Given the description of an element on the screen output the (x, y) to click on. 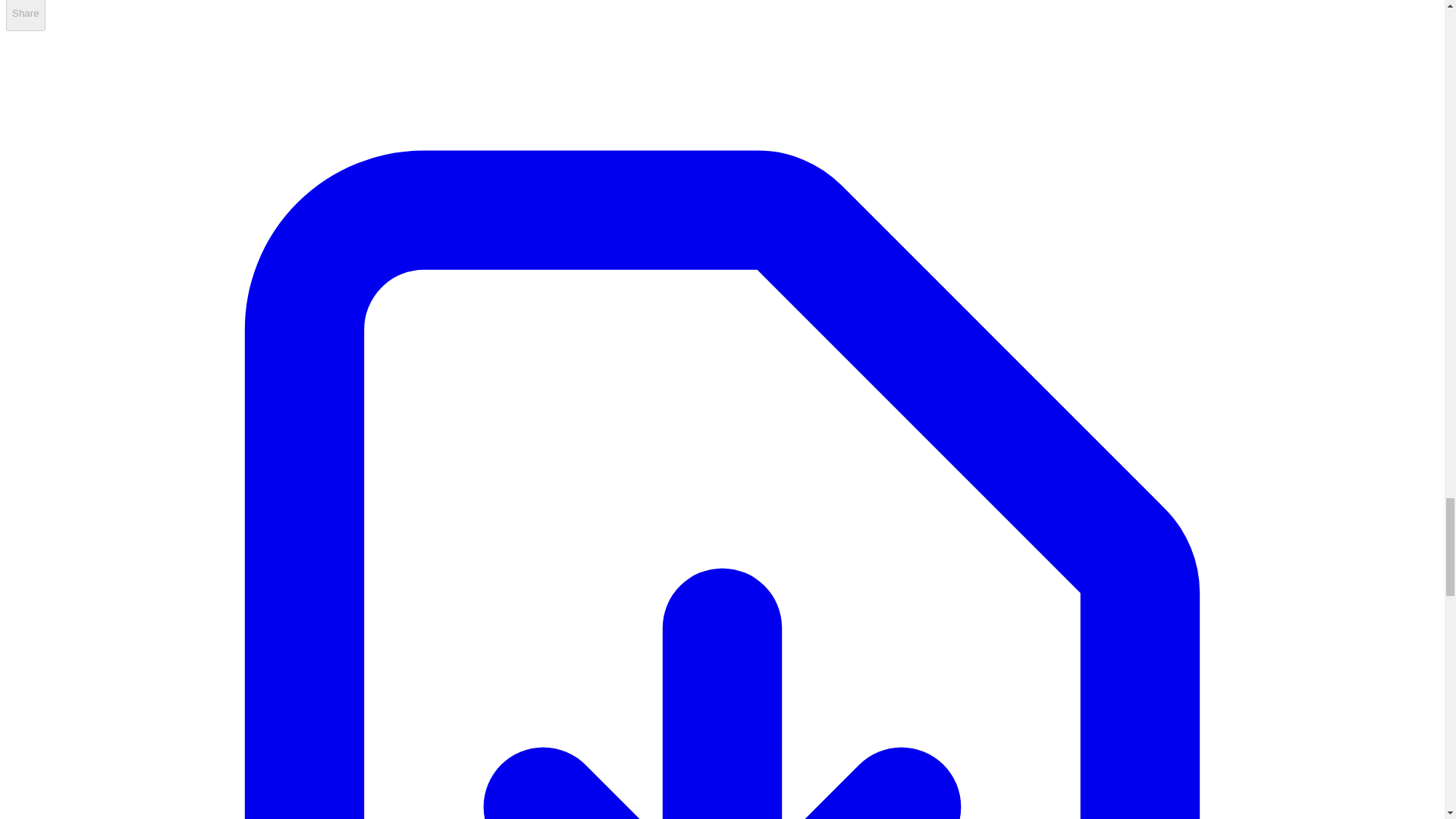
Share (25, 15)
